Given the description of an element on the screen output the (x, y) to click on. 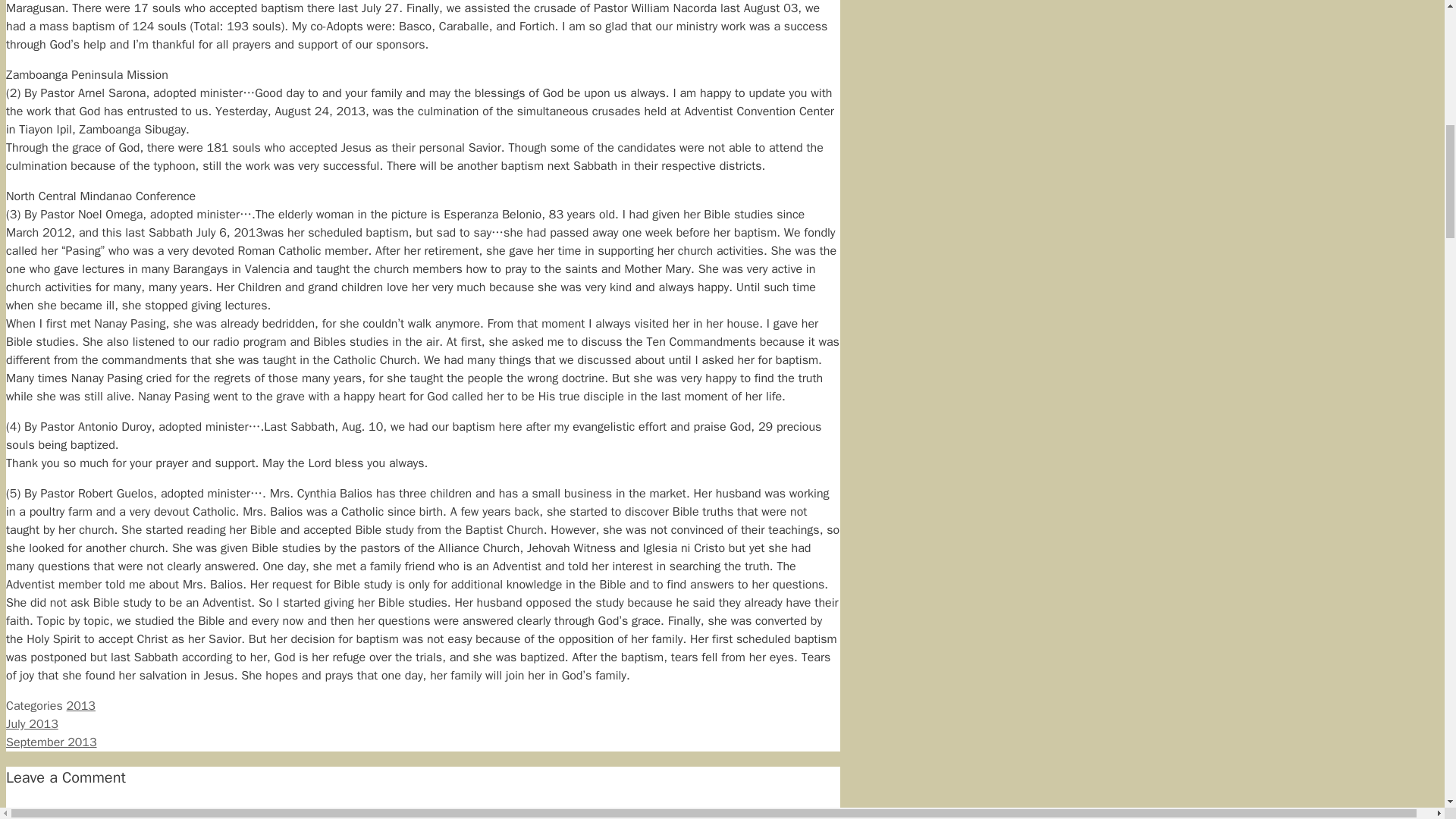
September 2013 (51, 742)
logged in (100, 812)
2013 (81, 705)
July 2013 (31, 724)
